Given the description of an element on the screen output the (x, y) to click on. 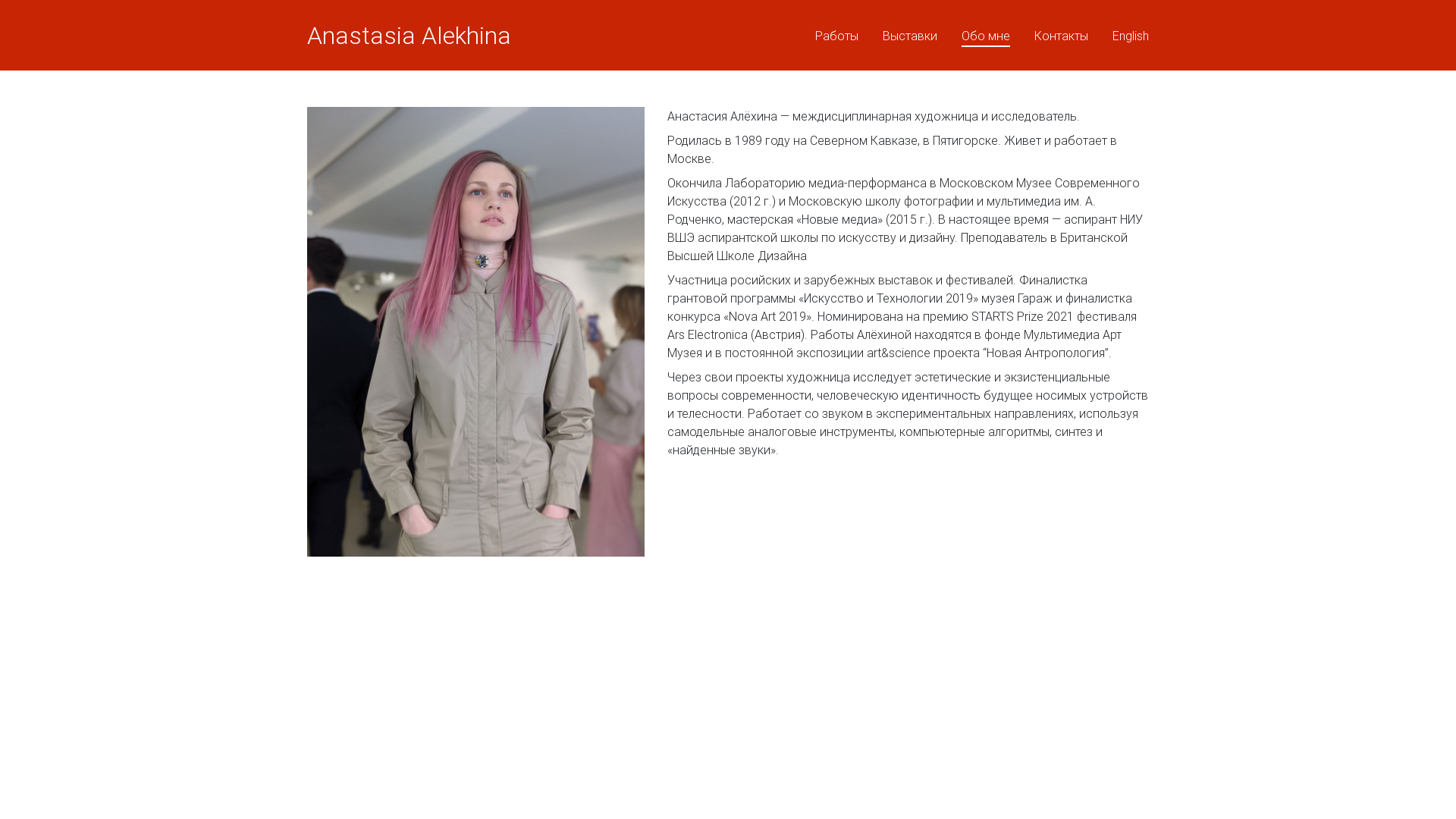
Anastasia Alekhina Element type: text (409, 35)
English Element type: text (1130, 35)
